Given the description of an element on the screen output the (x, y) to click on. 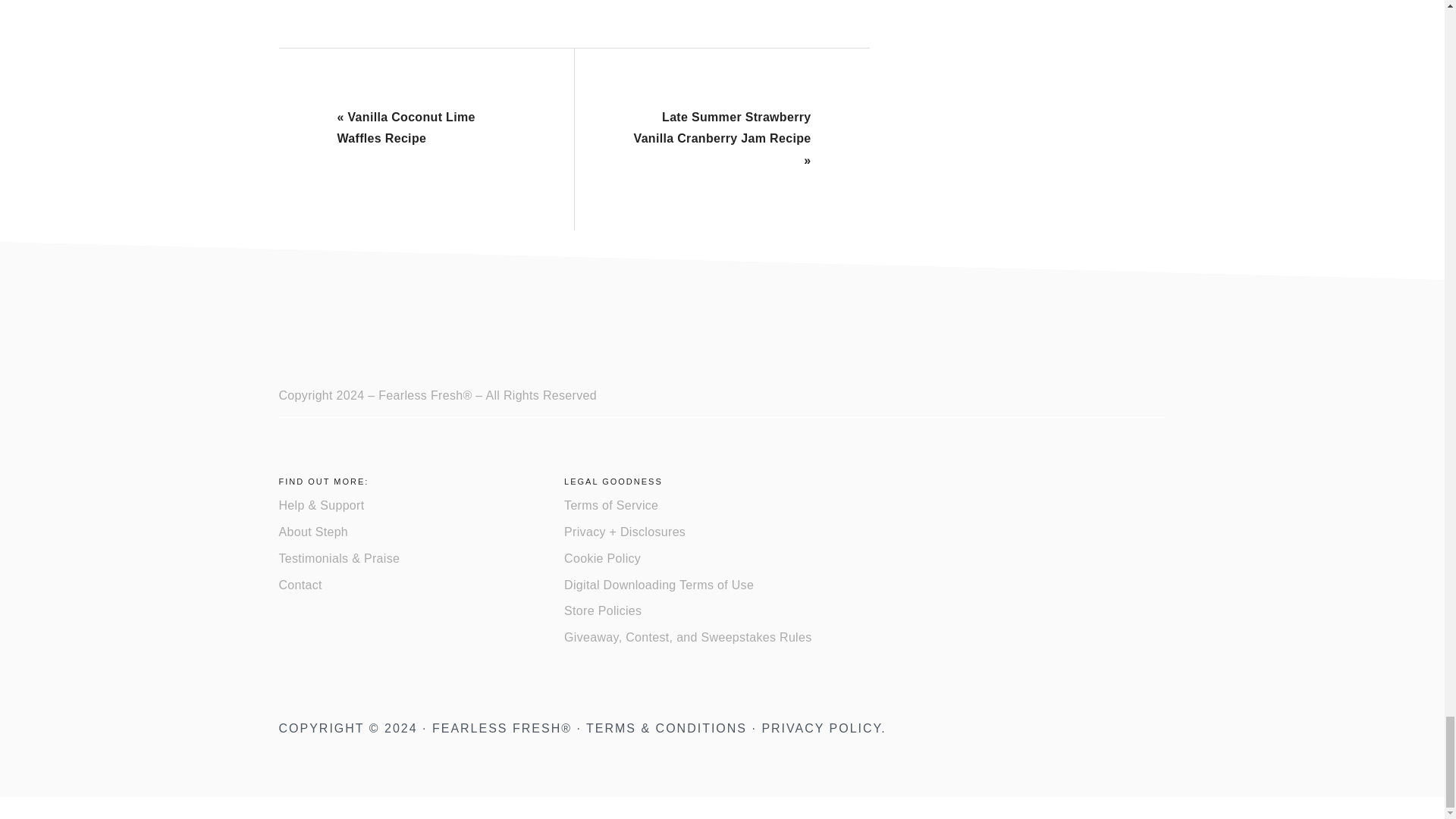
About Steph (314, 531)
Store Policies (603, 610)
Cookie Policy (602, 558)
Terms of Service (611, 504)
Contact (300, 584)
PRIVACY POLICY (820, 727)
Digital Downloading Terms of Use (659, 584)
Giveaway, Contest, and Sweepstakes Rules (687, 636)
